Given the description of an element on the screen output the (x, y) to click on. 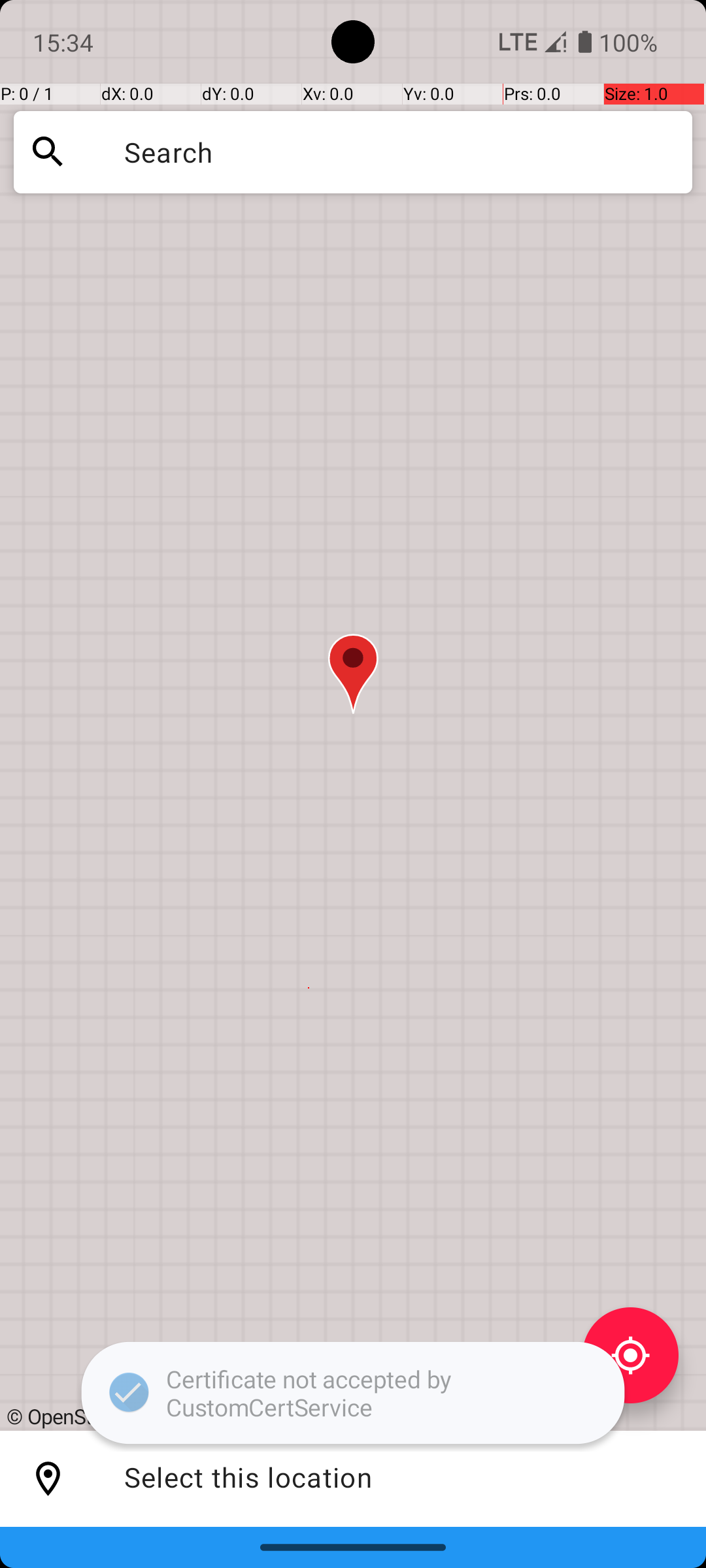
Select this location Element type: android.widget.ImageView (47, 1478)
